Given the description of an element on the screen output the (x, y) to click on. 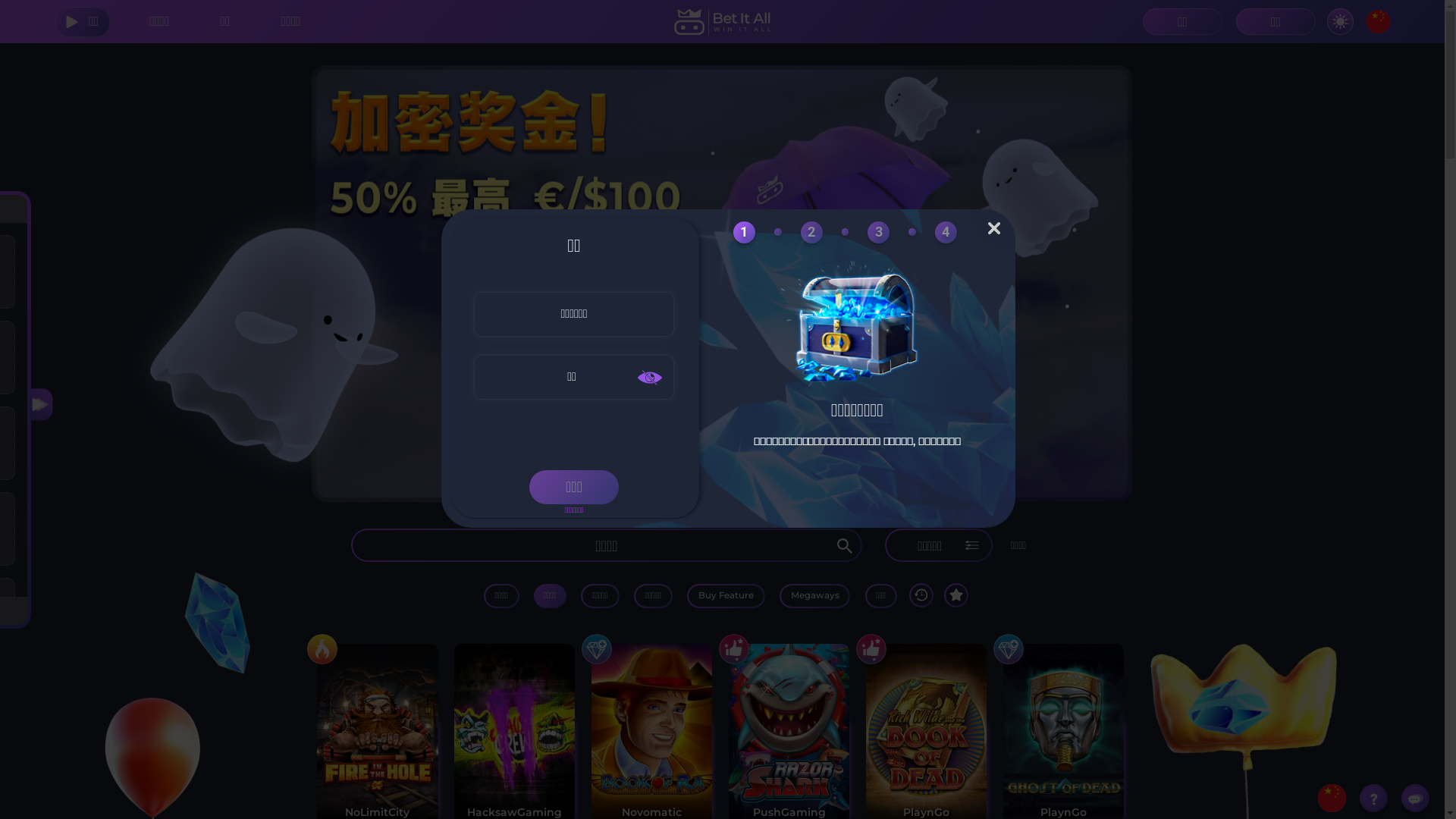
X Element type: text (994, 228)
